Given the description of an element on the screen output the (x, y) to click on. 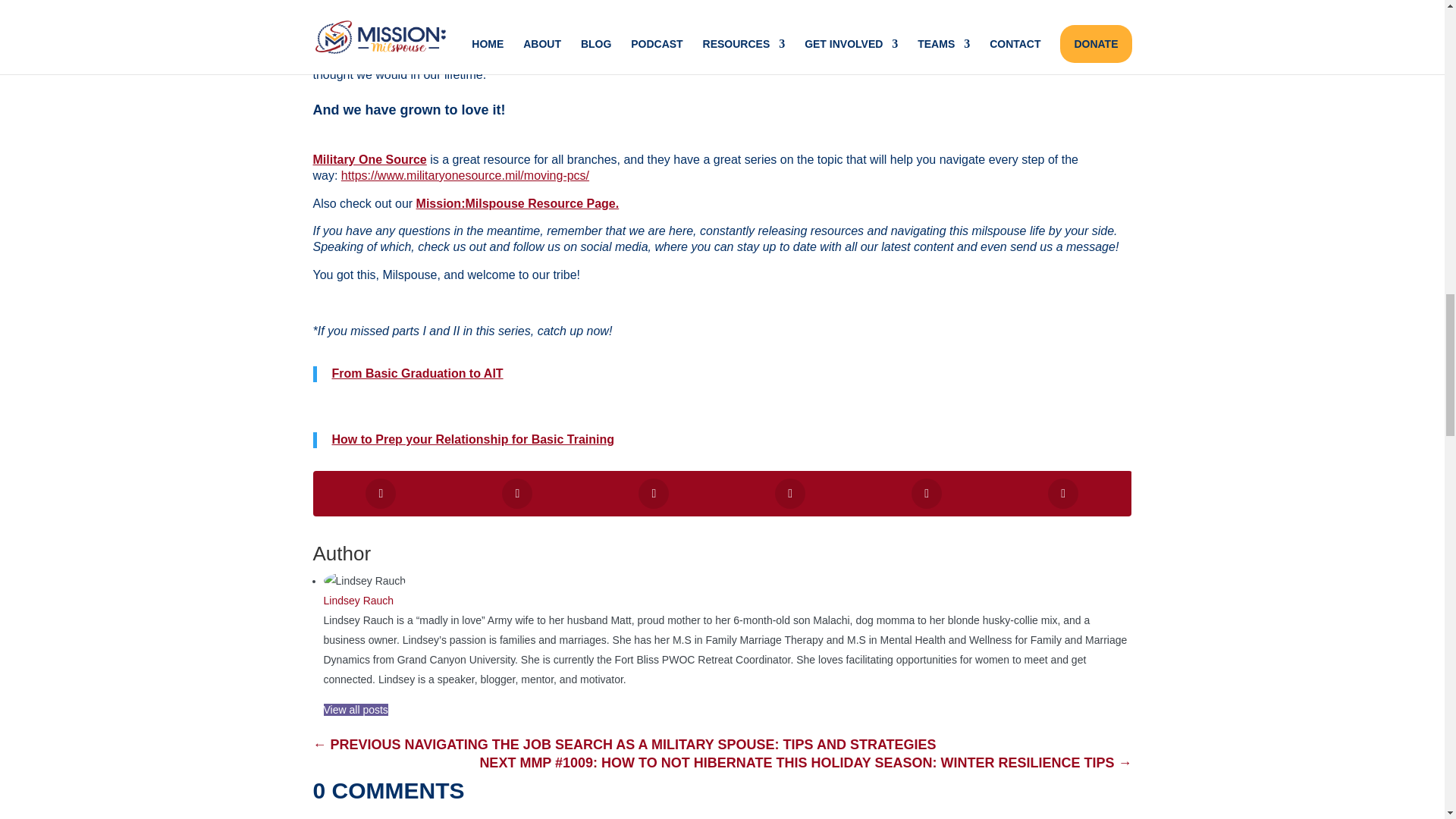
View all posts (355, 709)
Lindsey Rauch (358, 600)
Military One Source (369, 159)
One Source Moving and PCS (464, 174)
Mission:Milspouse Resource Page. (518, 203)
